Given the description of an element on the screen output the (x, y) to click on. 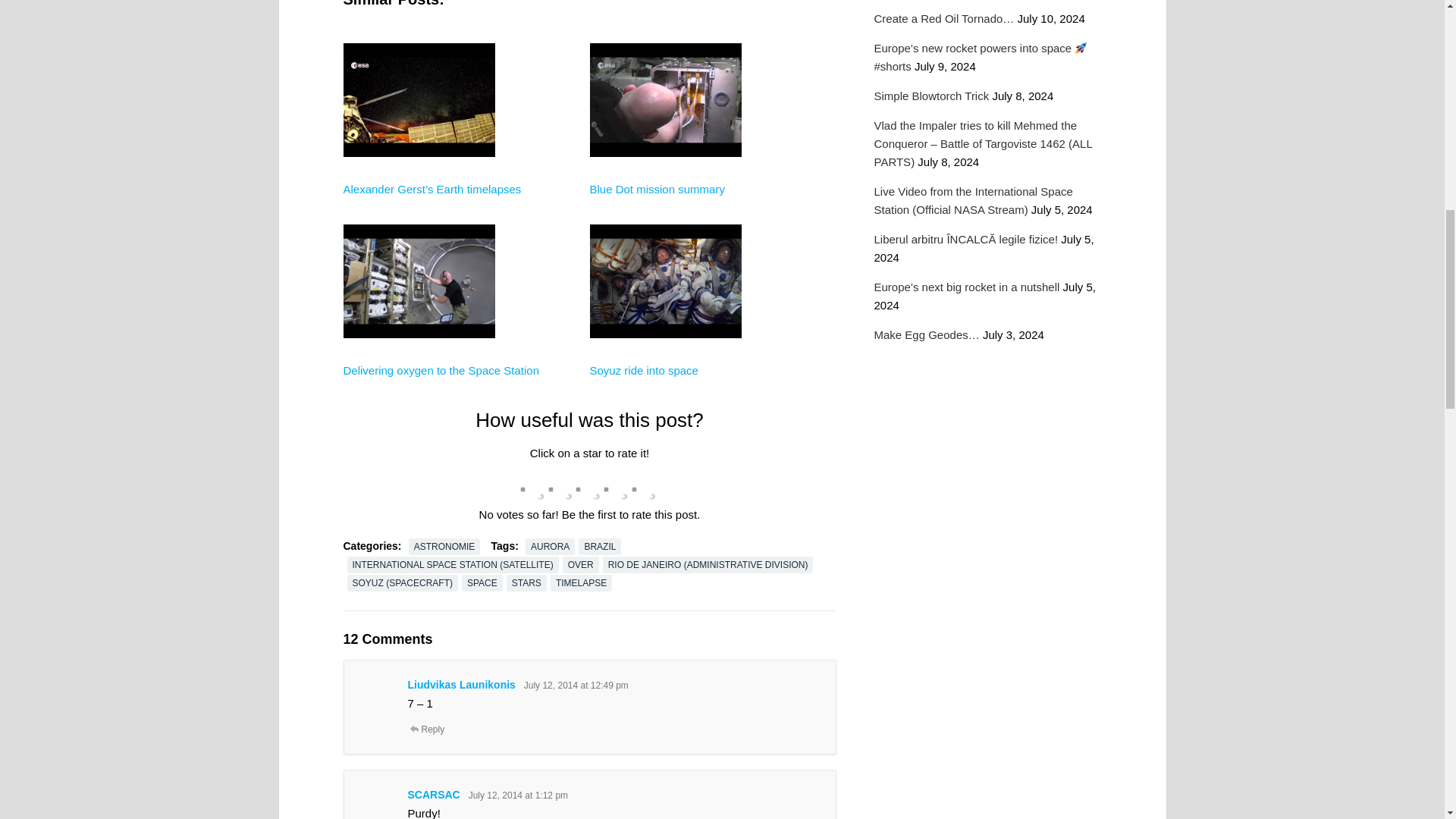
AURORA (550, 546)
Soyuz ride into space (643, 369)
Delivering oxygen to the Space Station (440, 369)
Soyuz ride into space (643, 369)
Delivering oxygen to the Space Station (440, 369)
Soyuz (665, 393)
ASTRONOMIE (444, 546)
Delivering (418, 393)
Blue (665, 212)
Blue Dot mission summary (657, 188)
Alexander (418, 212)
Blue Dot mission summary (657, 188)
